Given the description of an element on the screen output the (x, y) to click on. 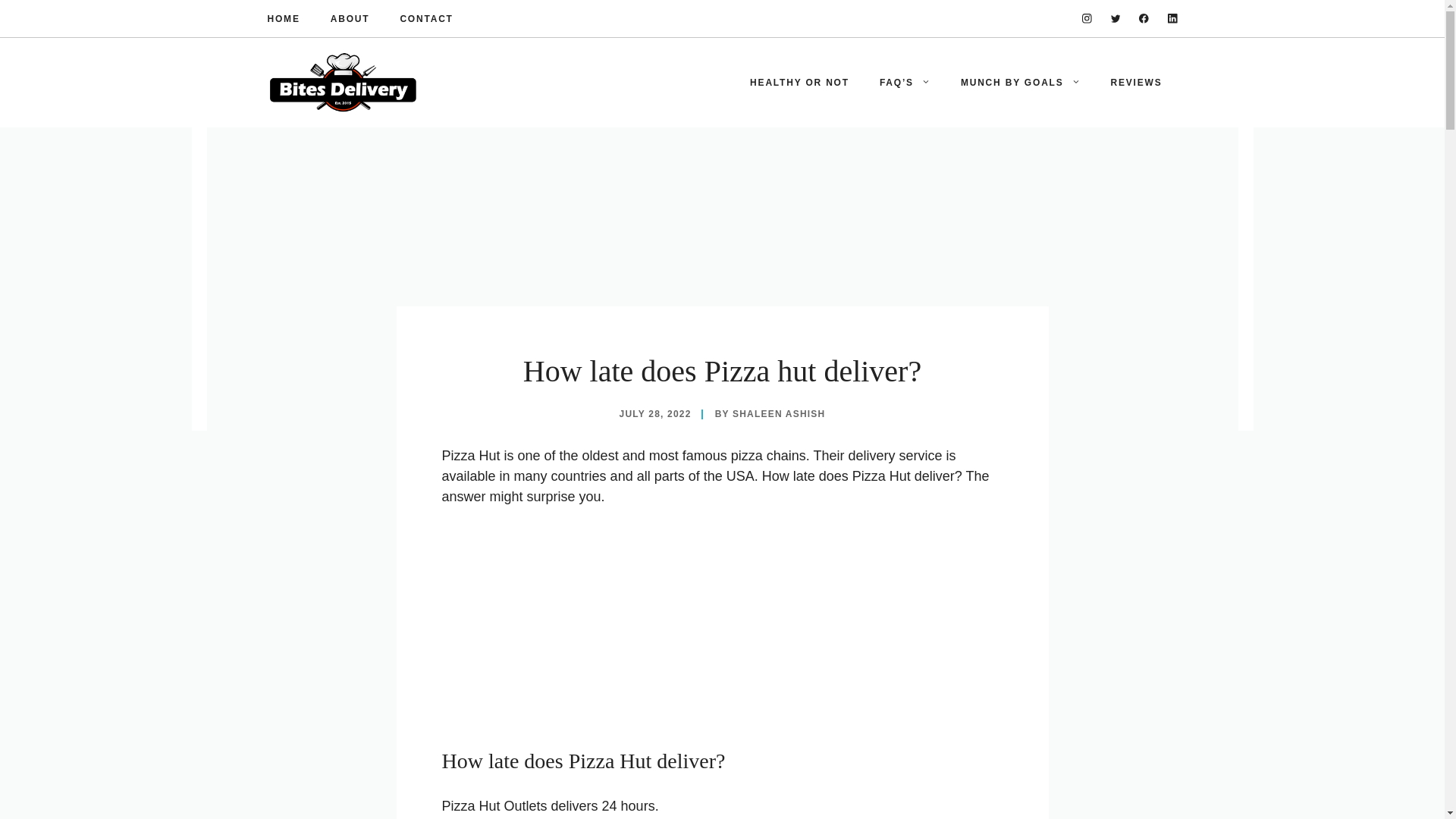
HEALTHY OR NOT (799, 82)
REVIEWS (1136, 82)
Advertisement (722, 633)
MUNCH BY GOALS (1020, 82)
CONTACT (425, 18)
Pizza Hut (610, 761)
HOME (282, 18)
SHALEEN ASHISH (778, 413)
ABOUT (349, 18)
